Given the description of an element on the screen output the (x, y) to click on. 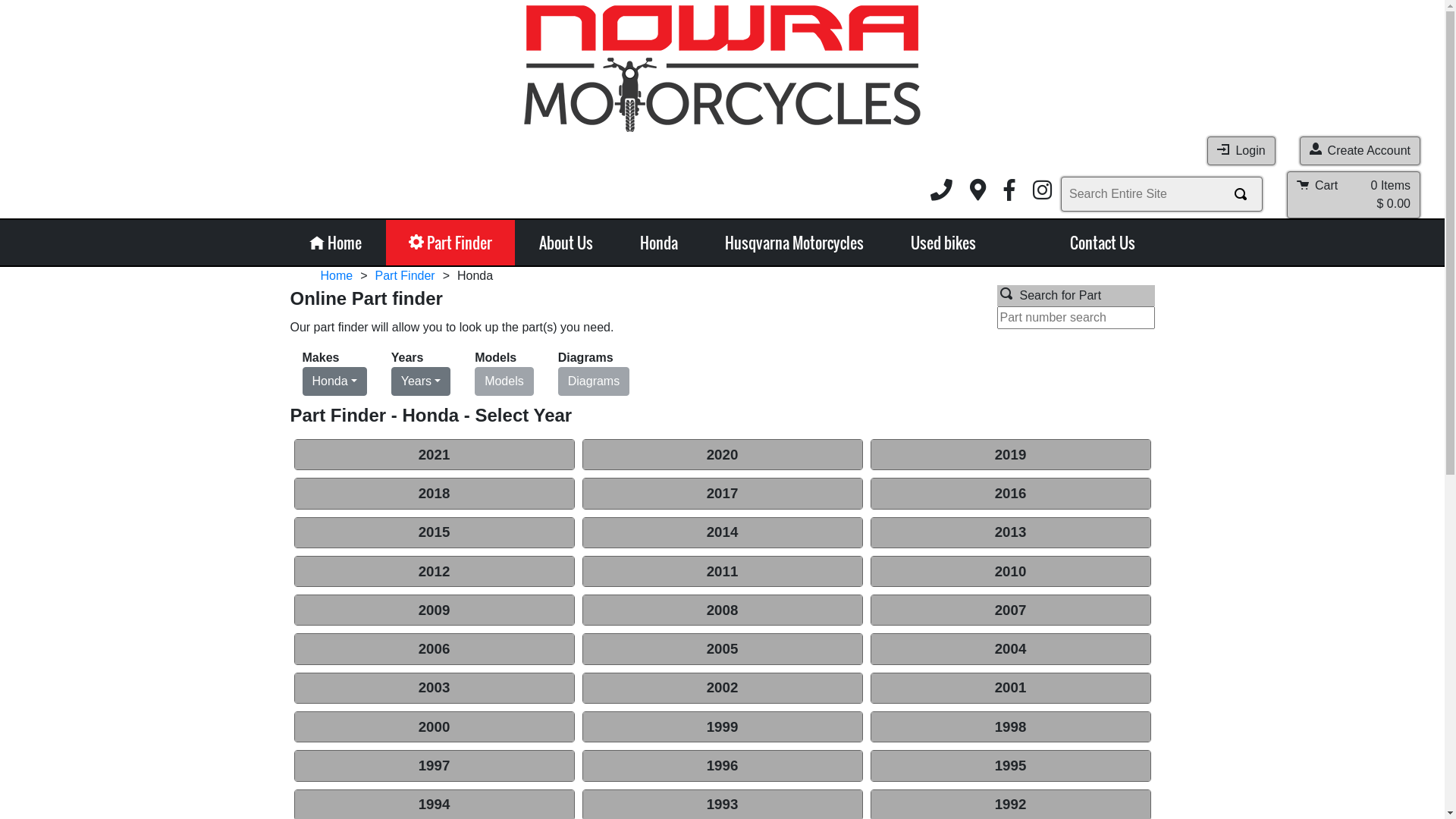
1996 Element type: text (721, 765)
Cart
0
0.00 Element type: text (1353, 194)
Part Finder Element type: text (405, 275)
2014 Element type: text (721, 532)
Create Account Element type: text (1359, 150)
2011 Element type: text (721, 571)
1997 Element type: text (433, 765)
2000 Element type: text (433, 726)
1995 Element type: text (1009, 765)
2013 Element type: text (1009, 532)
2019 Element type: text (1009, 454)
2015 Element type: text (433, 532)
1999 Element type: text (721, 726)
2020 Element type: text (721, 454)
2021 Element type: text (433, 454)
Models Element type: text (503, 381)
2016 Element type: text (1009, 493)
Husqvarna Motorcycles Element type: text (794, 242)
Login Element type: text (1240, 150)
2005 Element type: text (721, 648)
2012 Element type: text (433, 571)
Diagrams Element type: text (593, 381)
2018 Element type: text (433, 493)
2009 Element type: text (433, 609)
2008 Element type: text (721, 609)
Home Element type: text (335, 242)
2004 Element type: text (1009, 648)
2001 Element type: text (1009, 687)
2003 Element type: text (433, 687)
2007 Element type: text (1009, 609)
Part Finder Element type: text (449, 242)
Honda Element type: text (333, 381)
Contact Us Element type: text (1102, 242)
Honda Element type: text (658, 242)
Home Element type: text (336, 275)
1998 Element type: text (1009, 726)
Used bikes Element type: text (943, 242)
Years Element type: text (420, 381)
2002 Element type: text (721, 687)
2017 Element type: text (721, 493)
2006 Element type: text (433, 648)
2010 Element type: text (1009, 571)
About Us Element type: text (565, 242)
